Given the description of an element on the screen output the (x, y) to click on. 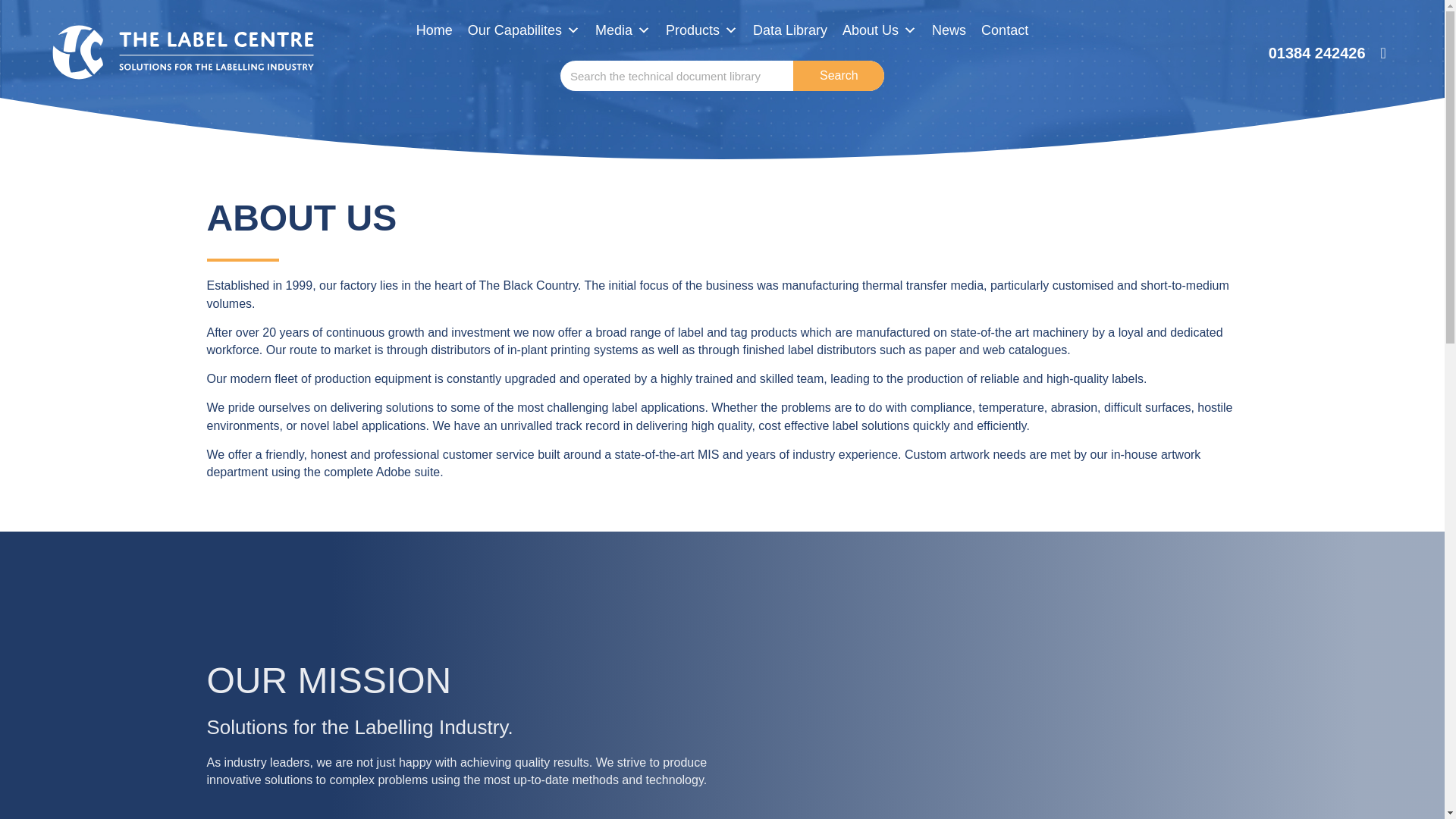
About Us (879, 30)
Data Library (789, 30)
Search (676, 75)
The Label Centre Logo (182, 52)
Products (701, 30)
Our Capabilites (524, 30)
Home (434, 30)
01384 242426 (1316, 52)
Media (623, 30)
Contact (1004, 30)
